Given the description of an element on the screen output the (x, y) to click on. 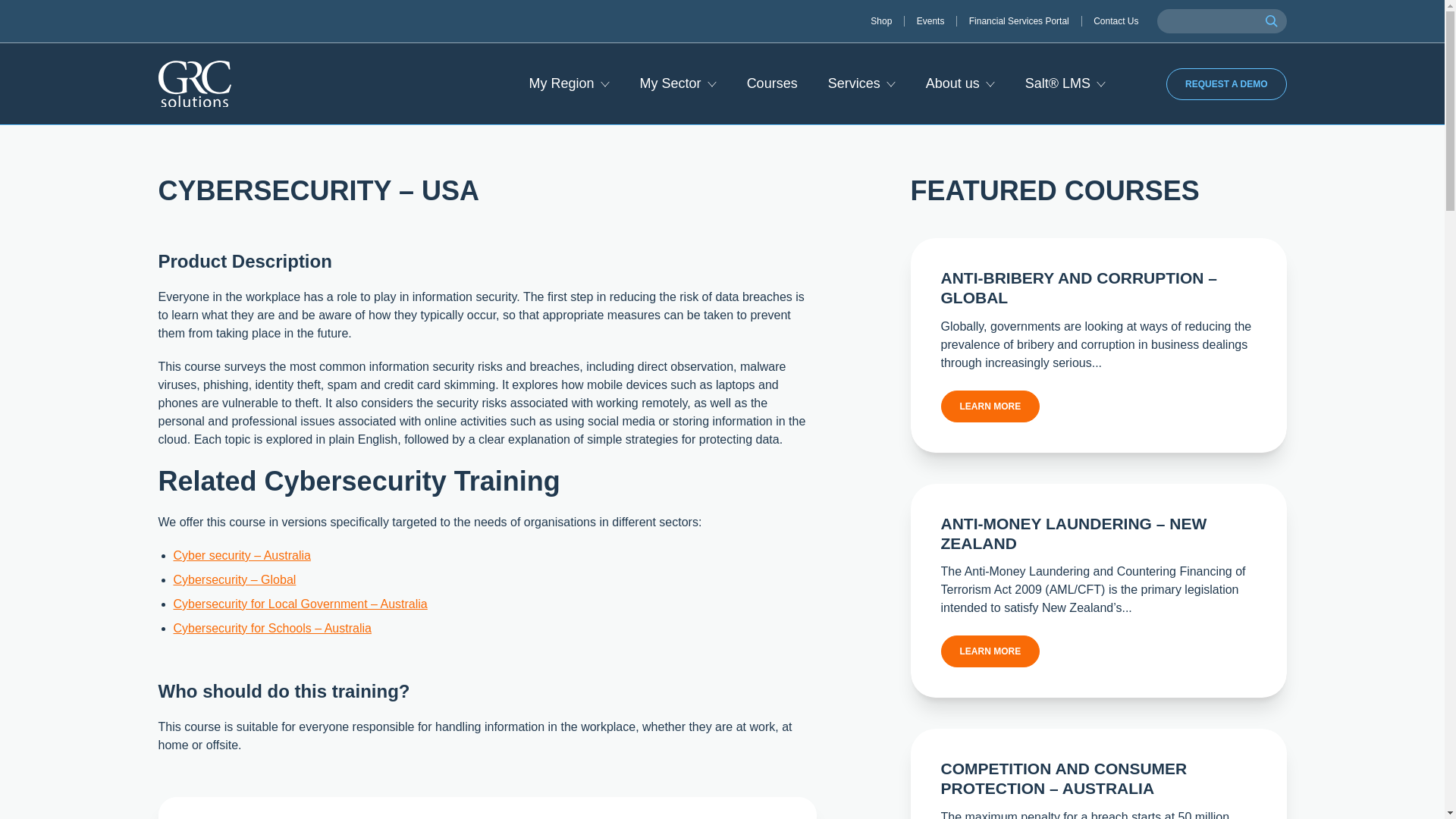
Shop (887, 20)
REQUEST A DEMO (1225, 83)
Search (1270, 21)
Contact Us (1115, 20)
Events (937, 20)
Financial Services Portal (1025, 20)
My Sector (678, 83)
My Region (569, 83)
